Given the description of an element on the screen output the (x, y) to click on. 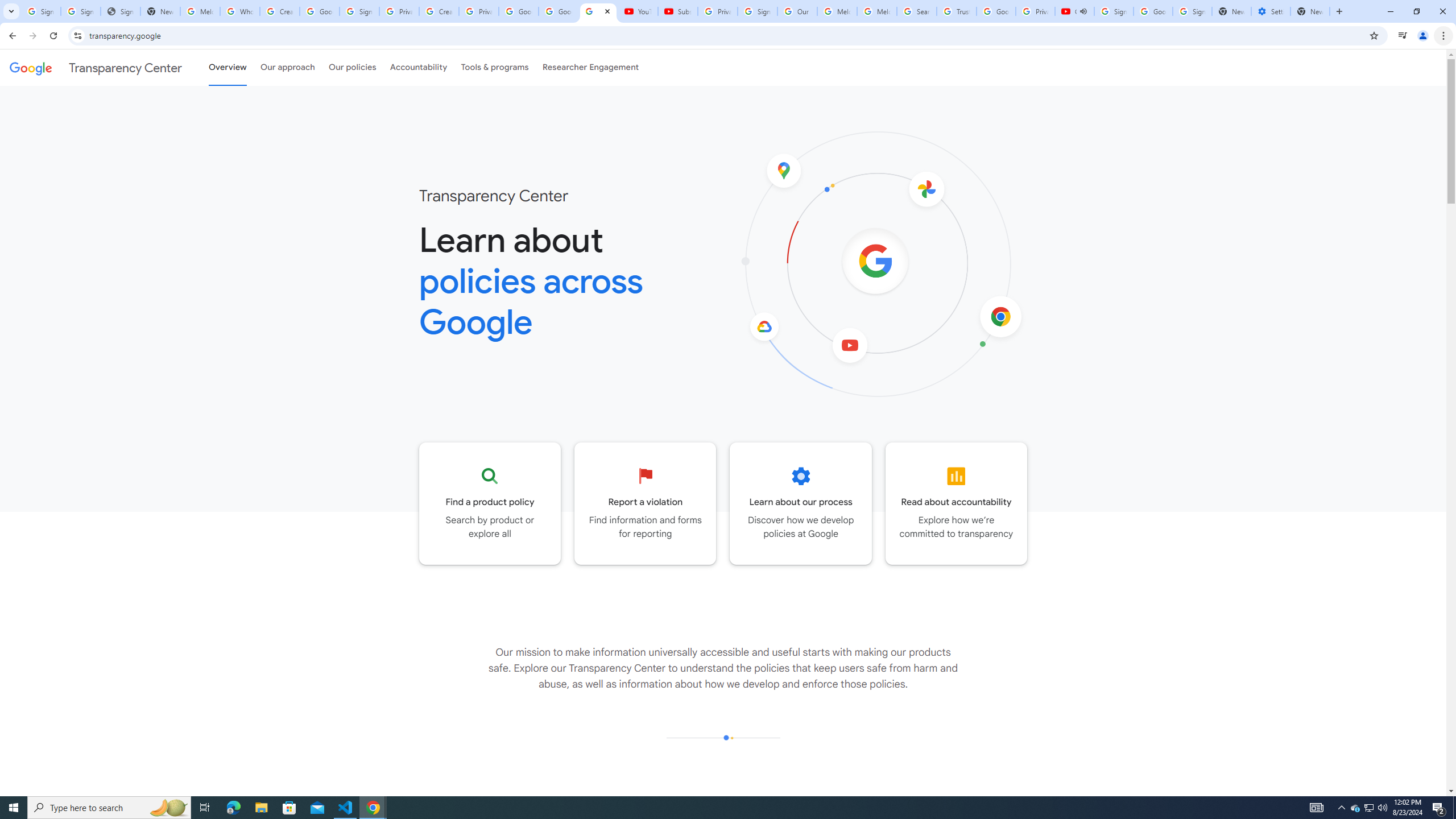
Settings - Addresses and more (1270, 11)
